Given the description of an element on the screen output the (x, y) to click on. 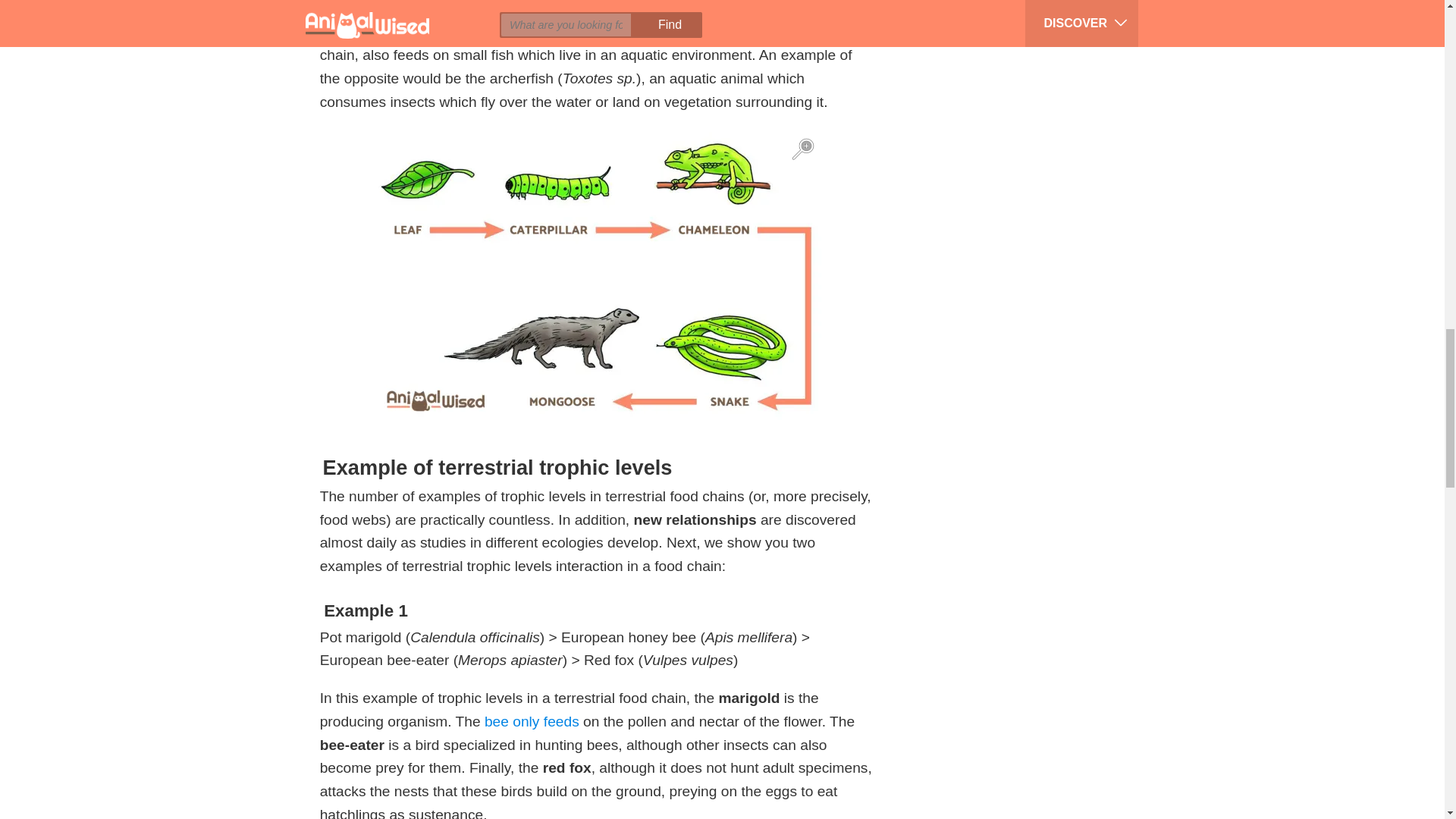
bee only feeds (531, 721)
